Given the description of an element on the screen output the (x, y) to click on. 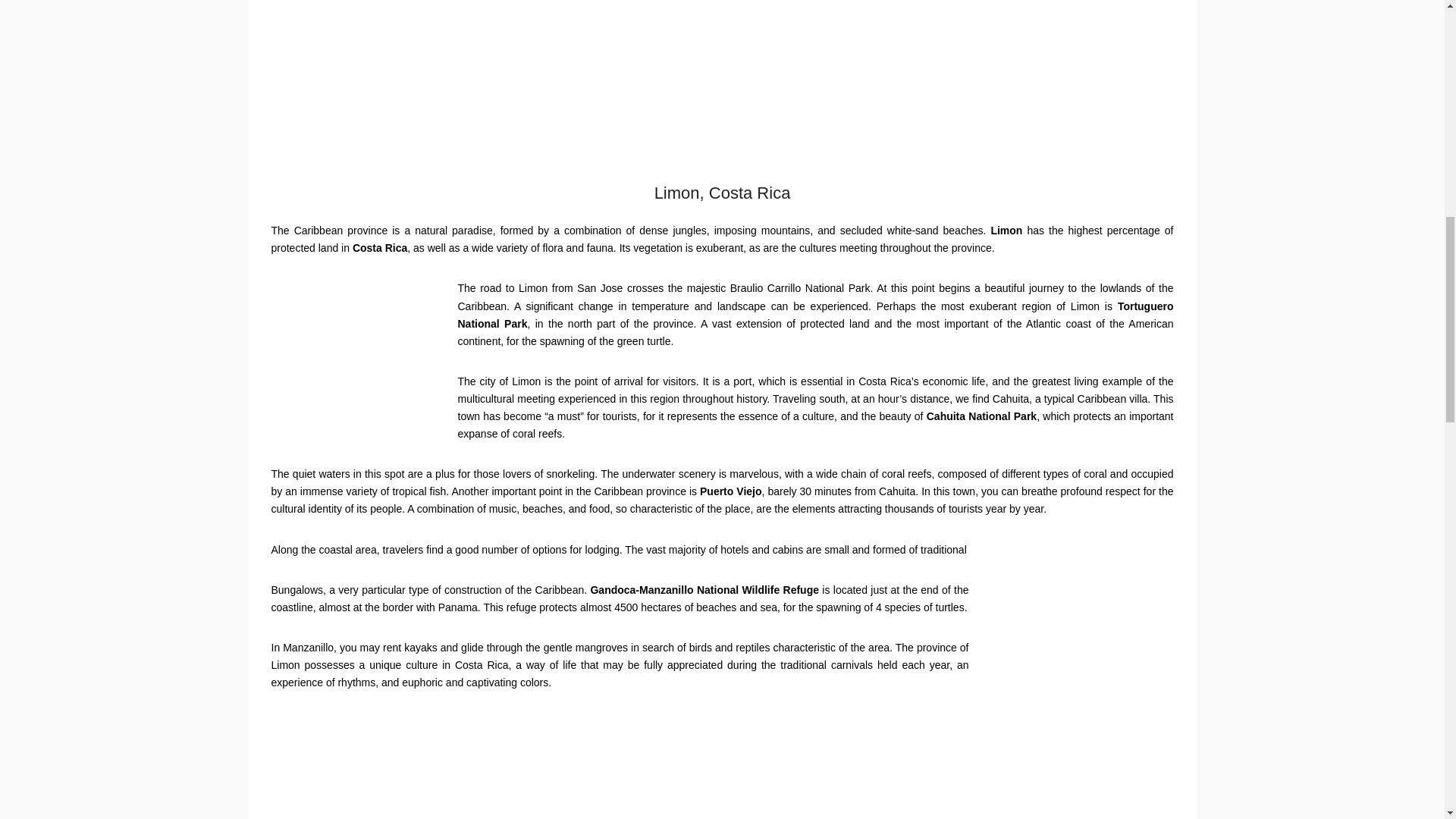
Limon Costa Rica 5 (356, 370)
Limon Costa Rica 4 (1078, 682)
